Given the description of an element on the screen output the (x, y) to click on. 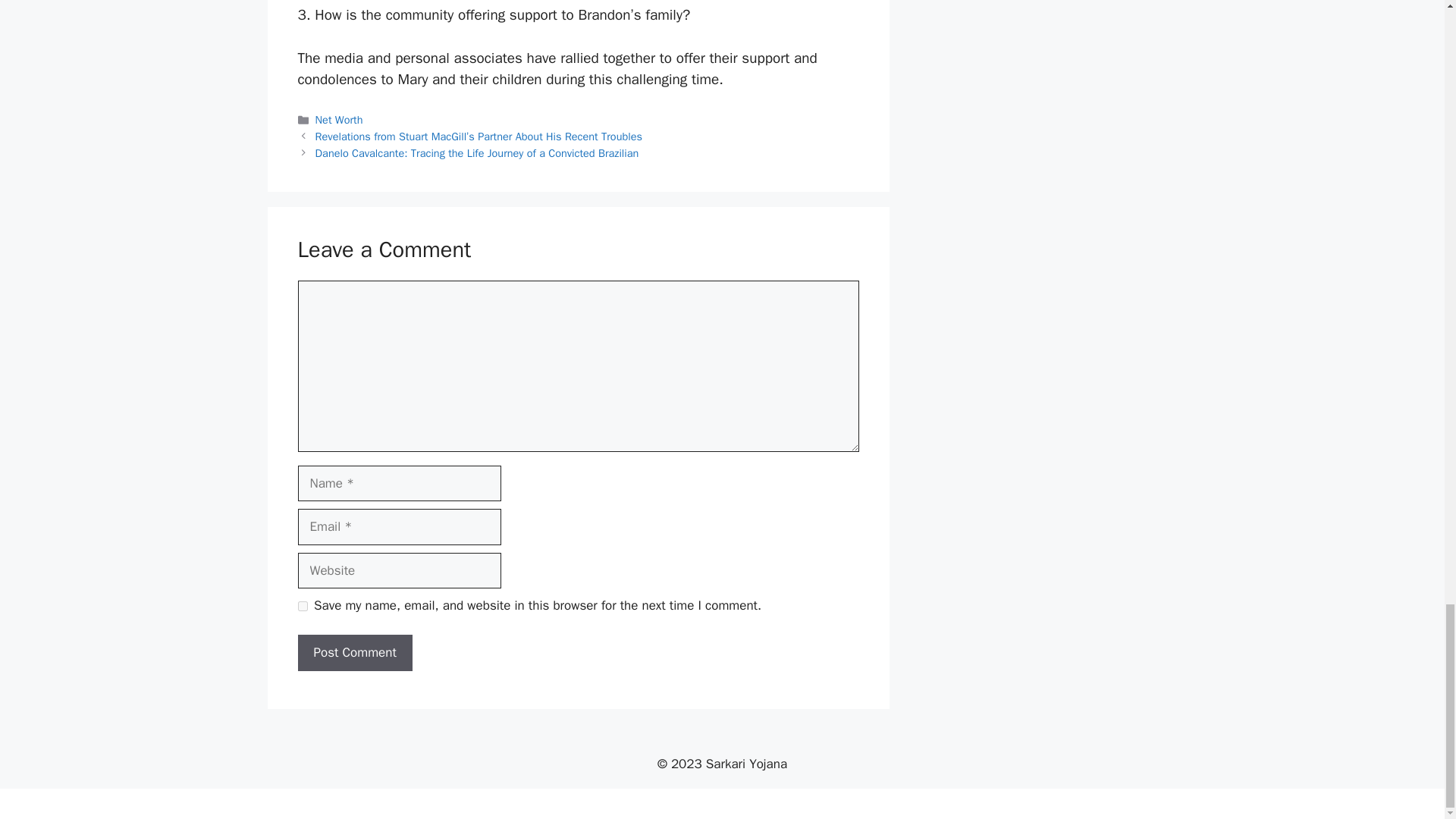
yes (302, 605)
Post Comment (354, 652)
Post Comment (354, 652)
Net Worth (338, 119)
